Given the description of an element on the screen output the (x, y) to click on. 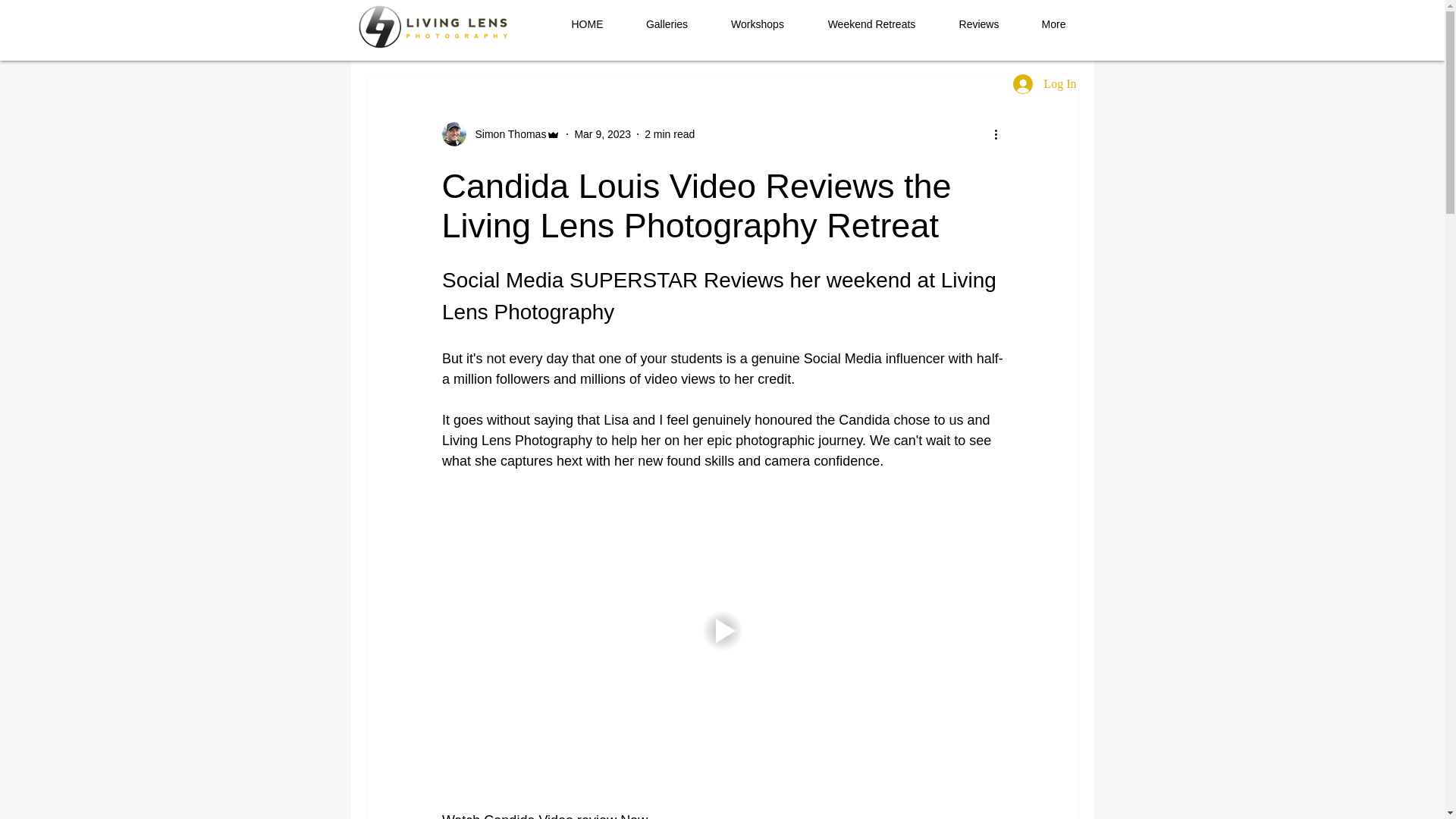
HOME (587, 23)
Galleries (667, 23)
Weekend Retreats (871, 23)
Simon Thomas (500, 134)
Simon Thomas (505, 133)
Mar 9, 2023 (601, 133)
Workshops (758, 23)
2 min read (669, 133)
Log In (1044, 83)
Reviews (978, 23)
